Given the description of an element on the screen output the (x, y) to click on. 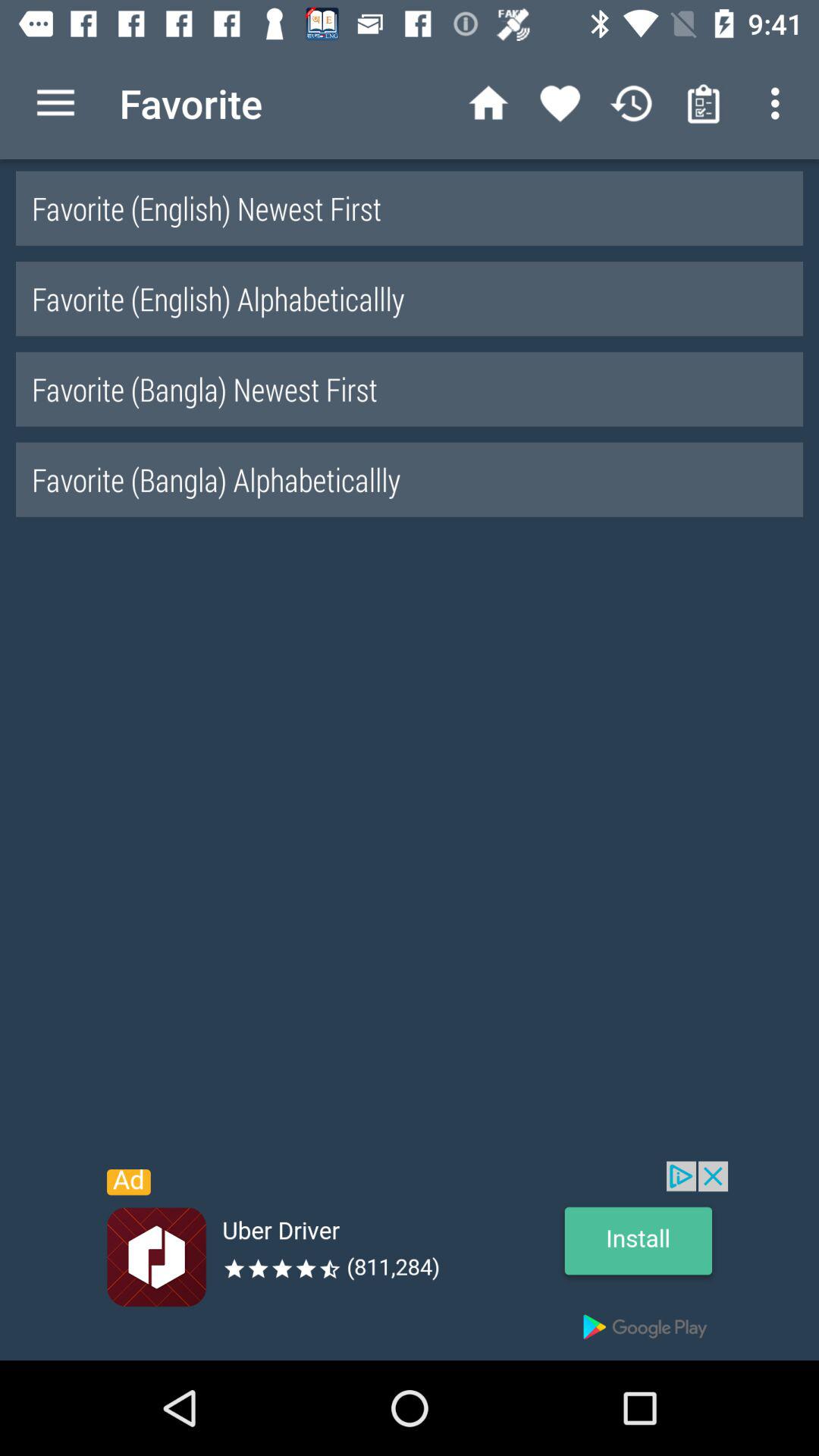
advertisement (409, 1260)
